Given the description of an element on the screen output the (x, y) to click on. 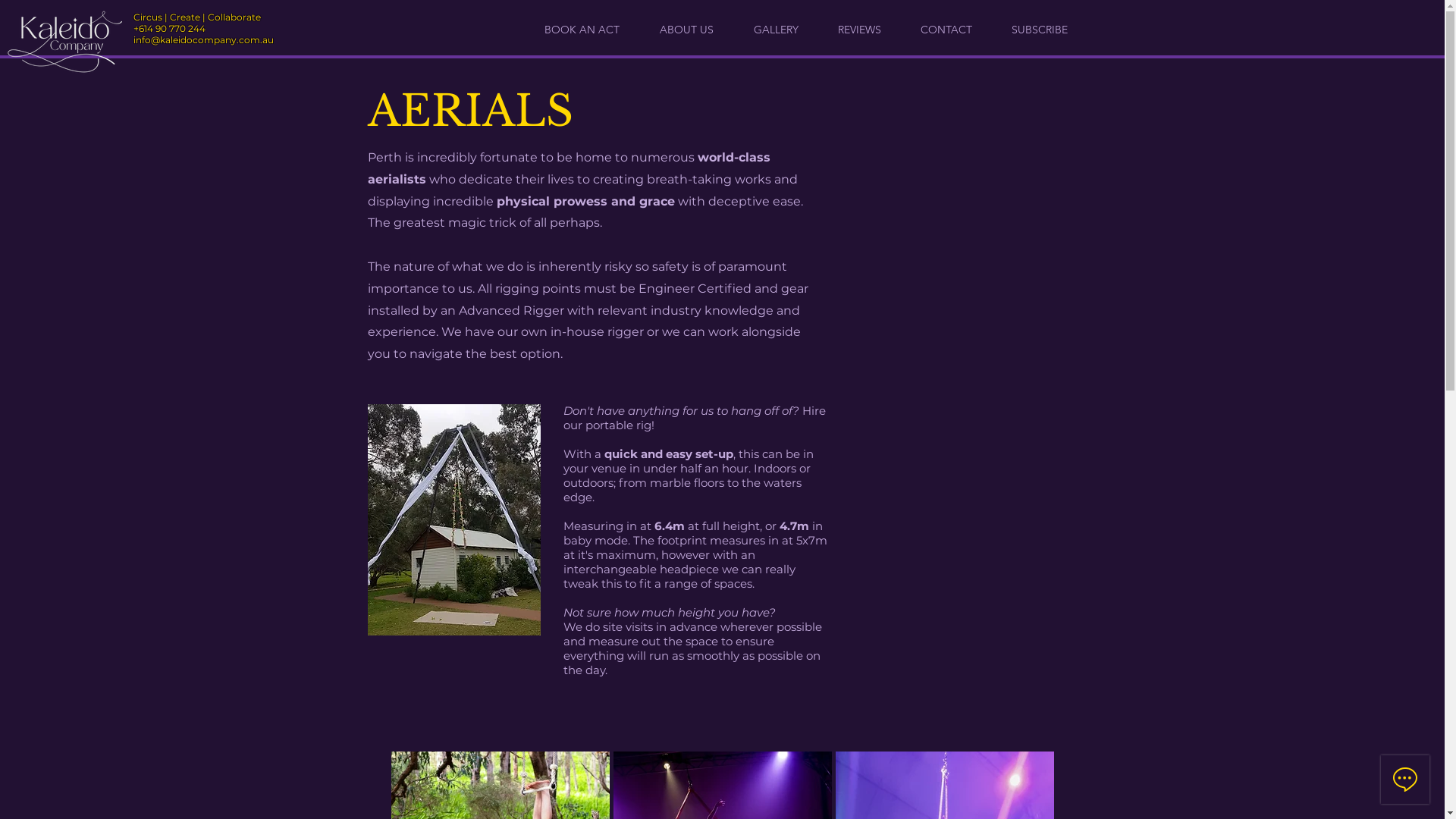
ABOUT US Element type: text (686, 29)
SUBSCRIBE Element type: text (1039, 29)
REVIEWS Element type: text (859, 29)
BOOK AN ACT Element type: text (581, 29)
Circus | Create | Collaborate Element type: text (429, 38)
Circus | Create | Collaborate
+614 90 770 244 Element type: text (196, 22)
GALLERY Element type: text (775, 29)
info@kaleidocompany.com.au Element type: text (203, 39)
CONTACT Element type: text (945, 29)
